Given the description of an element on the screen output the (x, y) to click on. 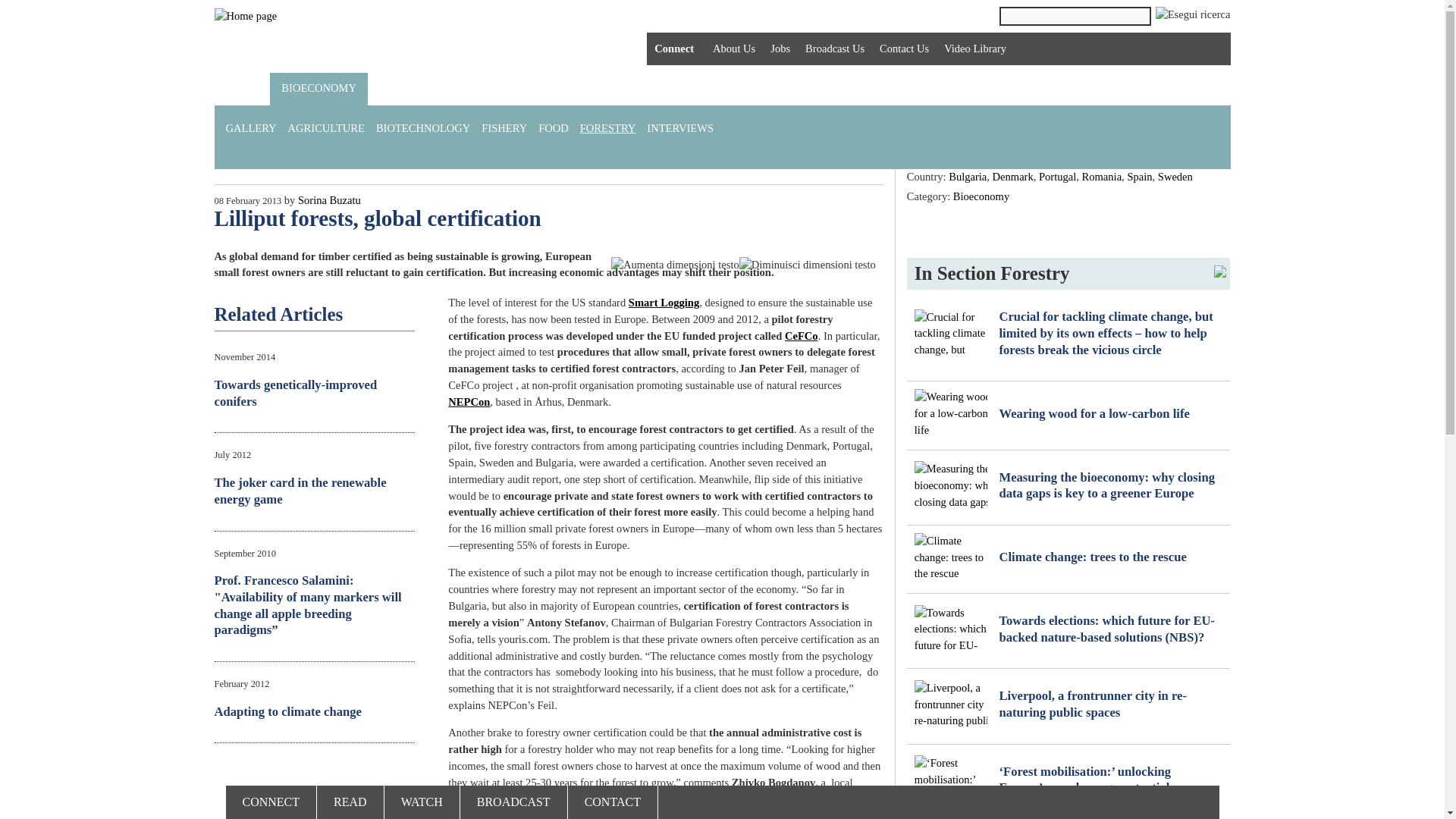
BIOECONOMY (318, 88)
Broadcast Us (834, 48)
Home page (245, 16)
GALLERY (256, 128)
Search (1074, 15)
NANO (713, 88)
READ (350, 802)
CeFCo (801, 336)
Home (241, 88)
WATCH (422, 802)
